Given the description of an element on the screen output the (x, y) to click on. 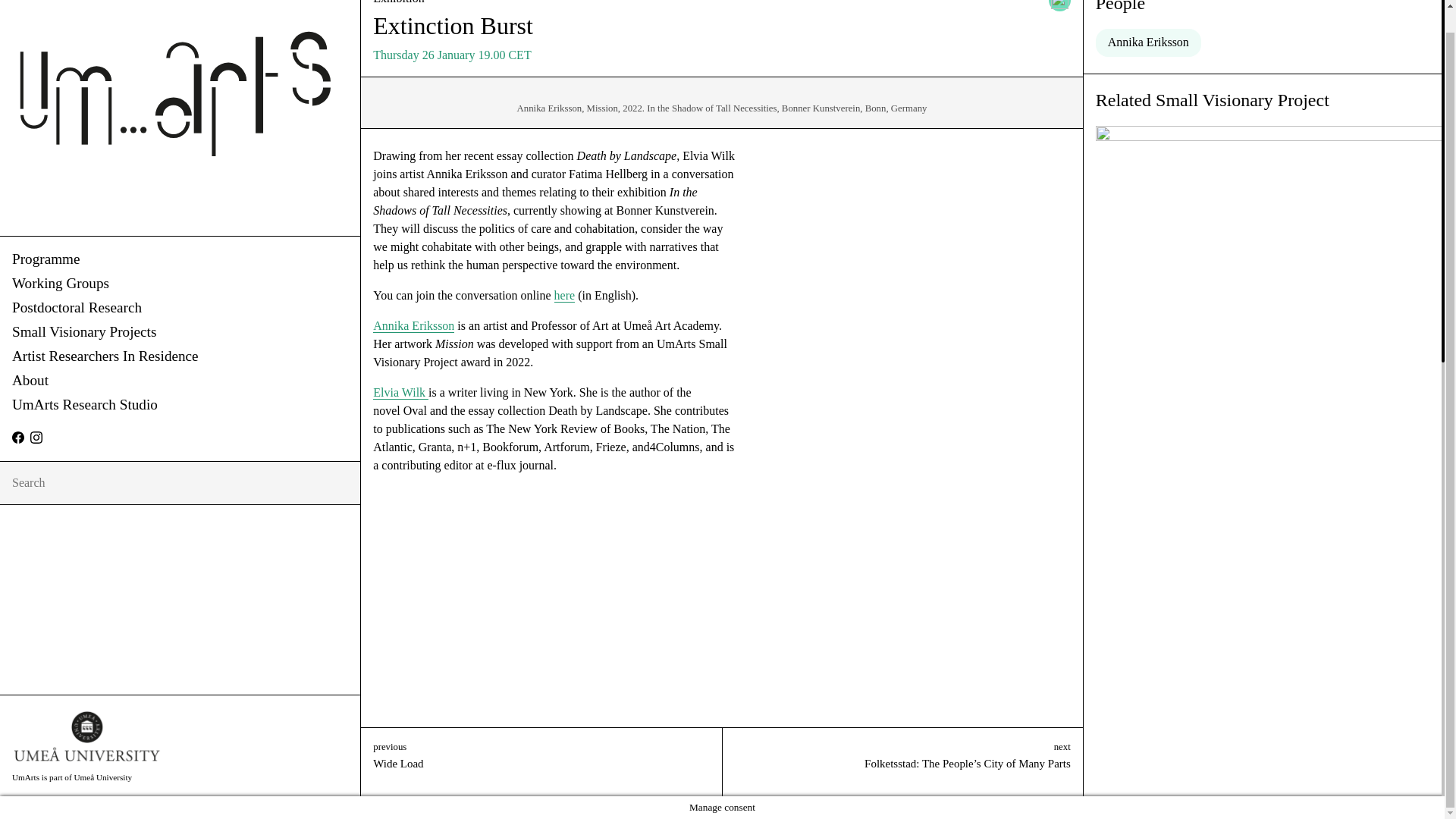
Instagram (36, 437)
Artist Researchers In Residence (179, 356)
Annika Eriksson (413, 325)
Wide Load (541, 770)
Small Visionary Projects (179, 332)
Elvia Wilk (400, 392)
Annika Eriksson (1148, 42)
UmArts Research Studio (179, 404)
Facebook (17, 437)
About (179, 381)
